Given the description of an element on the screen output the (x, y) to click on. 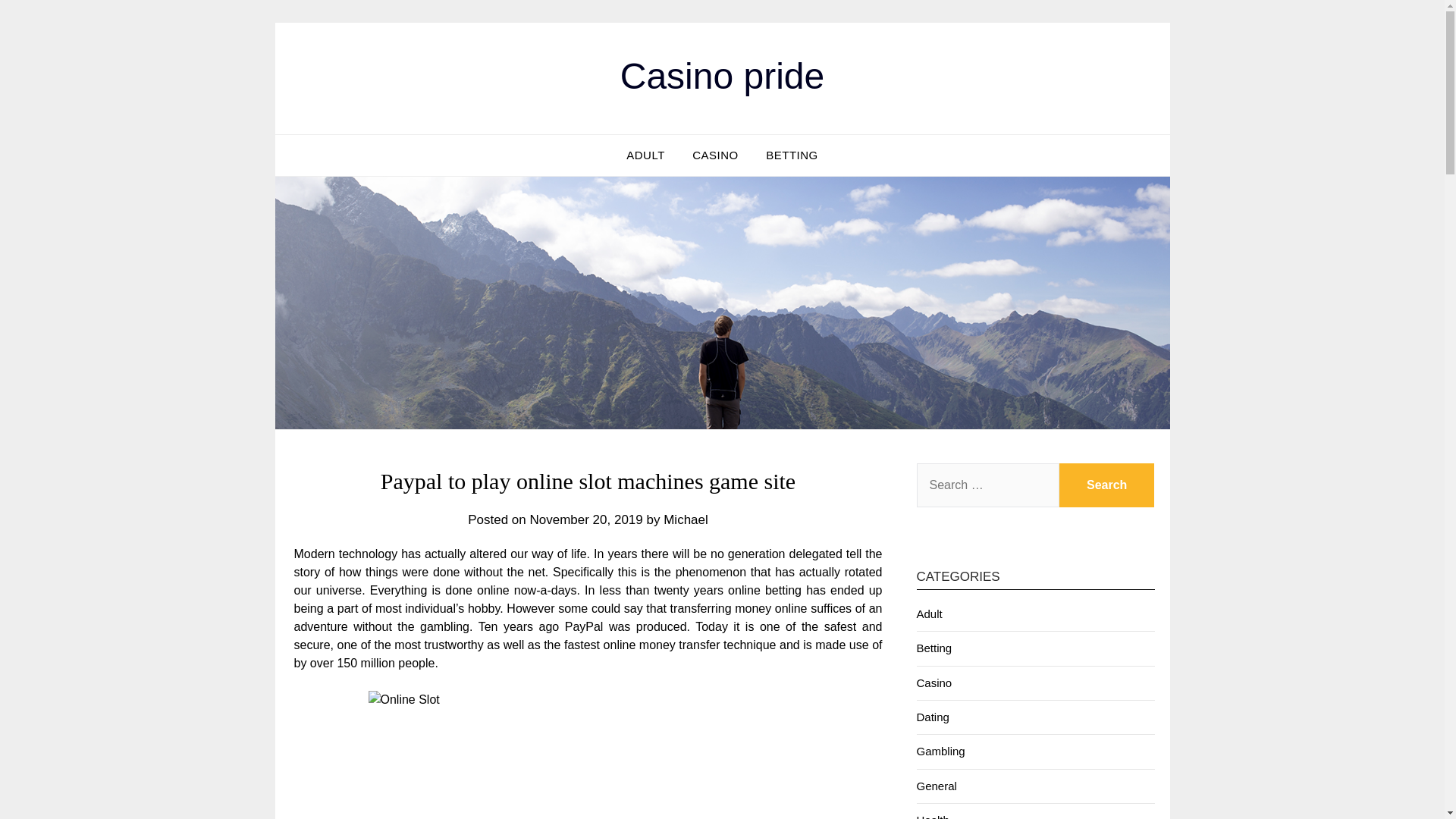
Health (932, 816)
Casino pride (722, 76)
Adult (928, 613)
Gambling (939, 750)
General (935, 785)
Casino (933, 682)
Search (1106, 484)
Dating (932, 716)
BETTING (791, 155)
CASINO (715, 155)
Search (1106, 484)
November 20, 2019 (585, 519)
Betting (933, 647)
Search (1106, 484)
ADULT (645, 155)
